Given the description of an element on the screen output the (x, y) to click on. 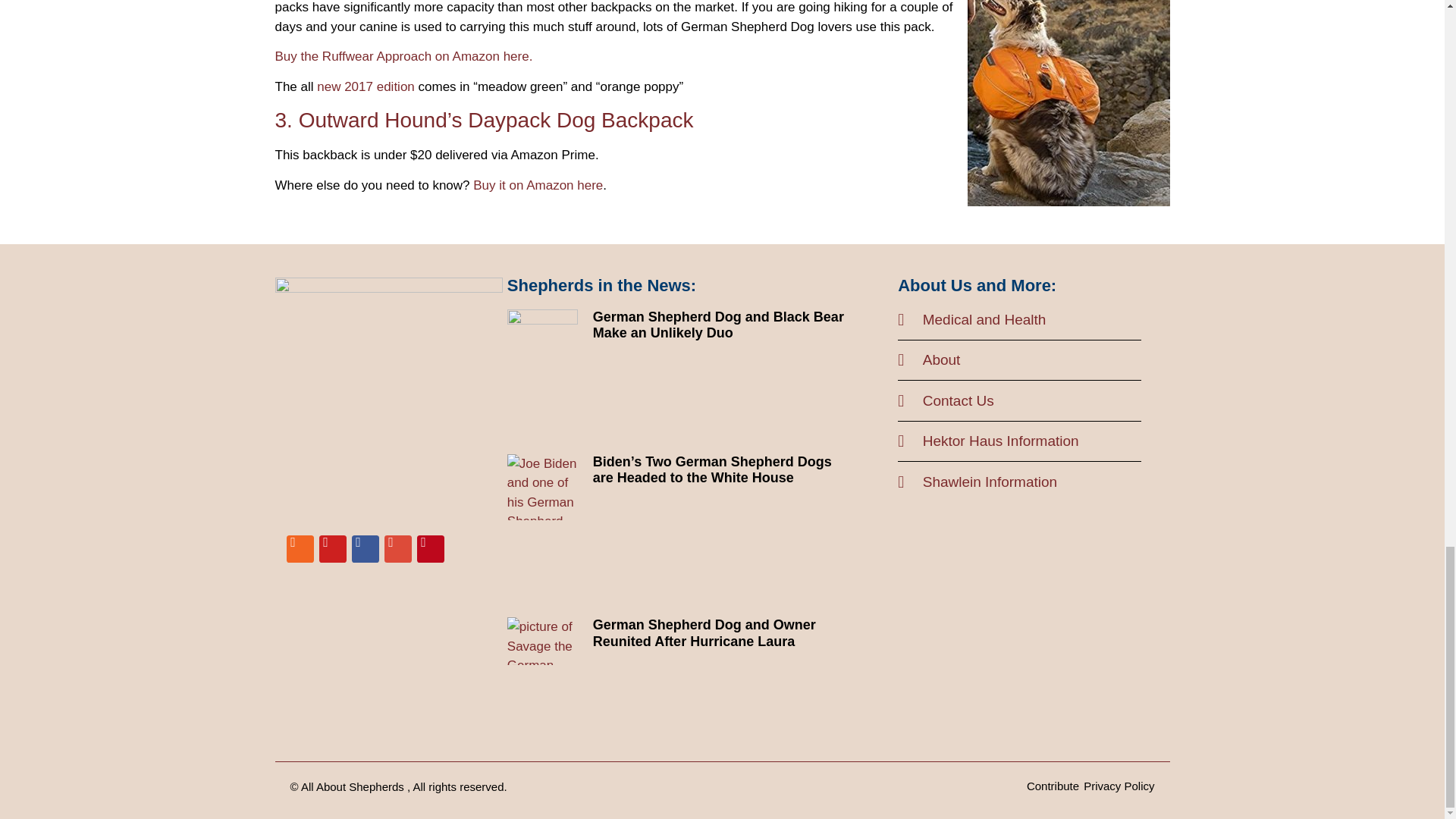
Medical and Health (1019, 320)
About (1019, 360)
Buy it on Amazon here (537, 185)
new 2017 edition (365, 86)
Buy the Ruffwear Approach on Amazon here. (403, 56)
German Shepherd Dog and Black Bear Make an Unlikely Duo (718, 325)
German Shepherd Dog and Owner Reunited After Hurricane Laura (703, 633)
